Given the description of an element on the screen output the (x, y) to click on. 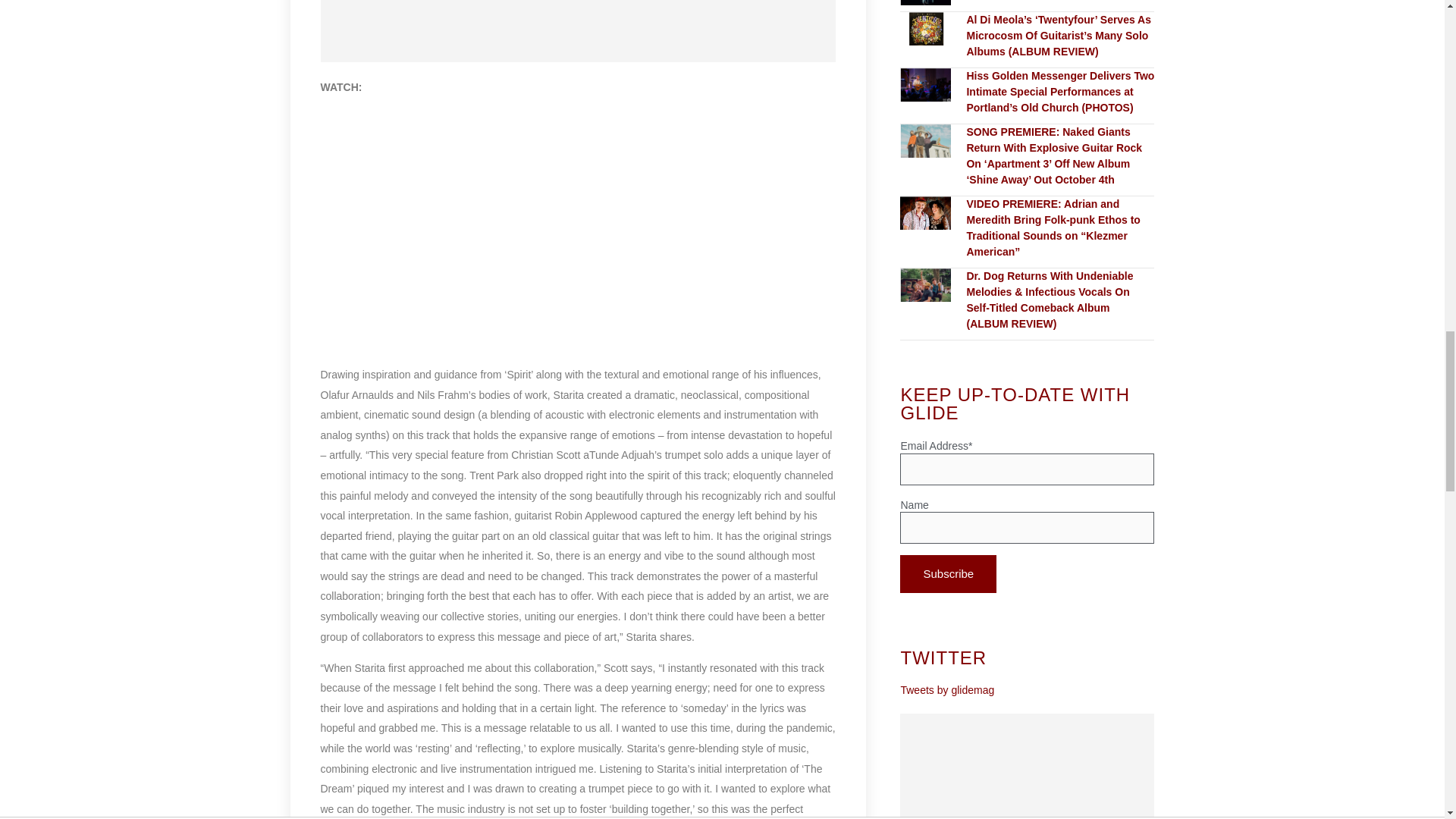
Subscribe (947, 573)
YouTube video player (577, 227)
